Given the description of an element on the screen output the (x, y) to click on. 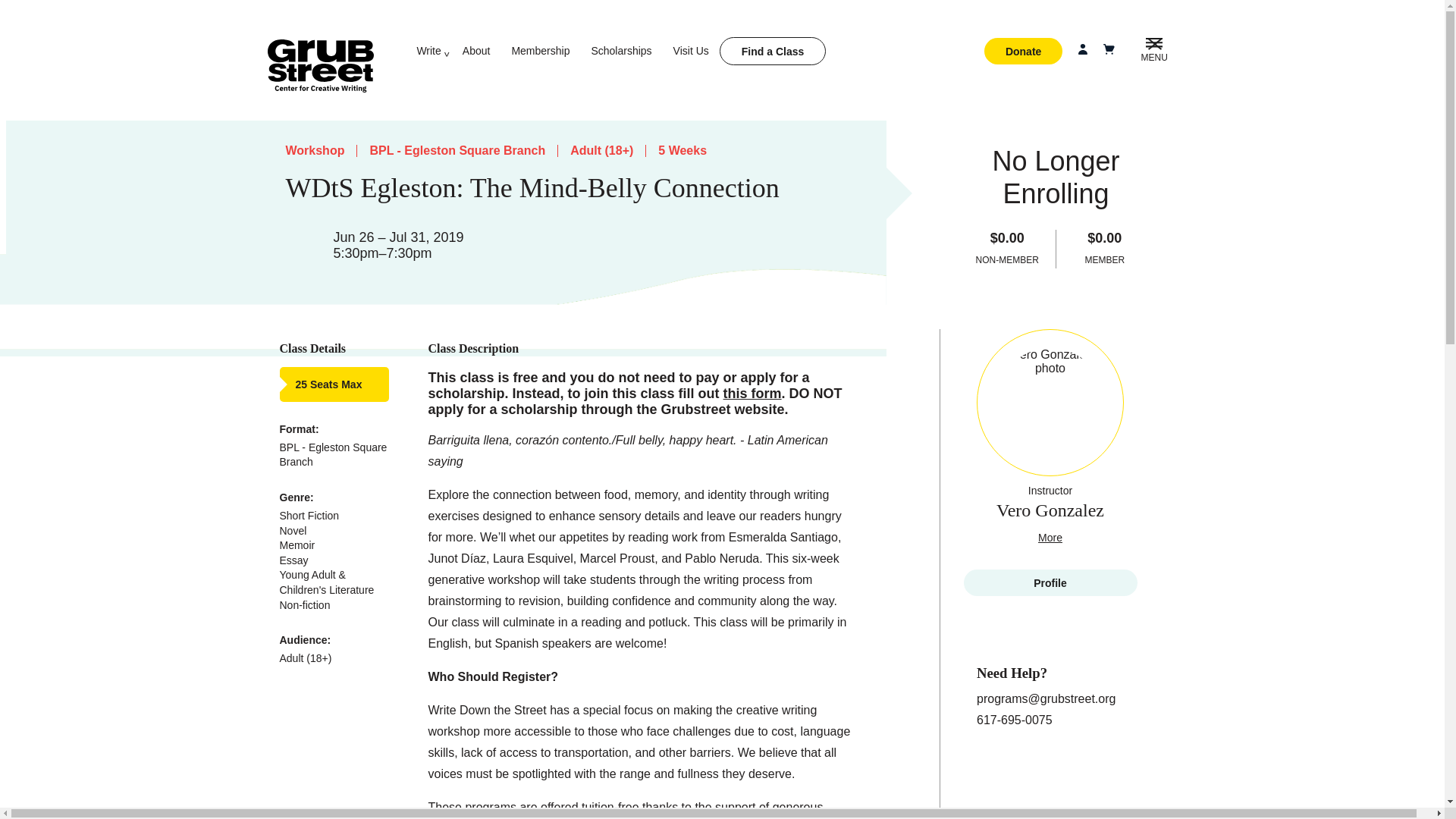
Membership (540, 50)
Visit Us (690, 50)
Write (428, 50)
Find a Class (772, 50)
Scholarships (620, 50)
Donate (1023, 50)
About (476, 50)
